Given the description of an element on the screen output the (x, y) to click on. 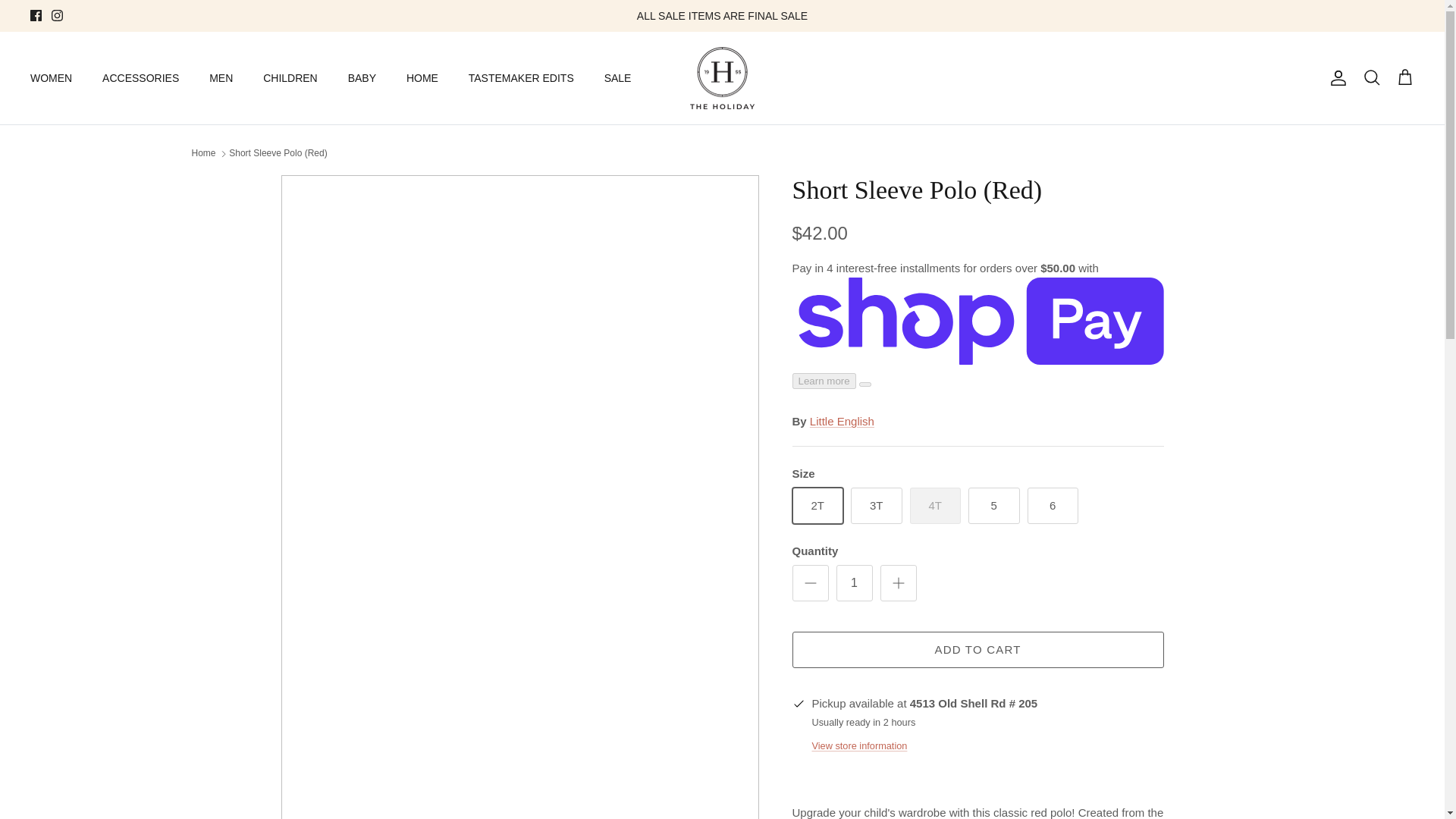
SALE (618, 78)
ACCESSORIES (140, 78)
MEN (220, 78)
TASTEMAKER EDITS (521, 78)
Instagram (56, 15)
Facebook (36, 15)
Cart (1404, 77)
Shop the Holiday (722, 77)
WOMEN (50, 78)
Search (1371, 77)
